Given the description of an element on the screen output the (x, y) to click on. 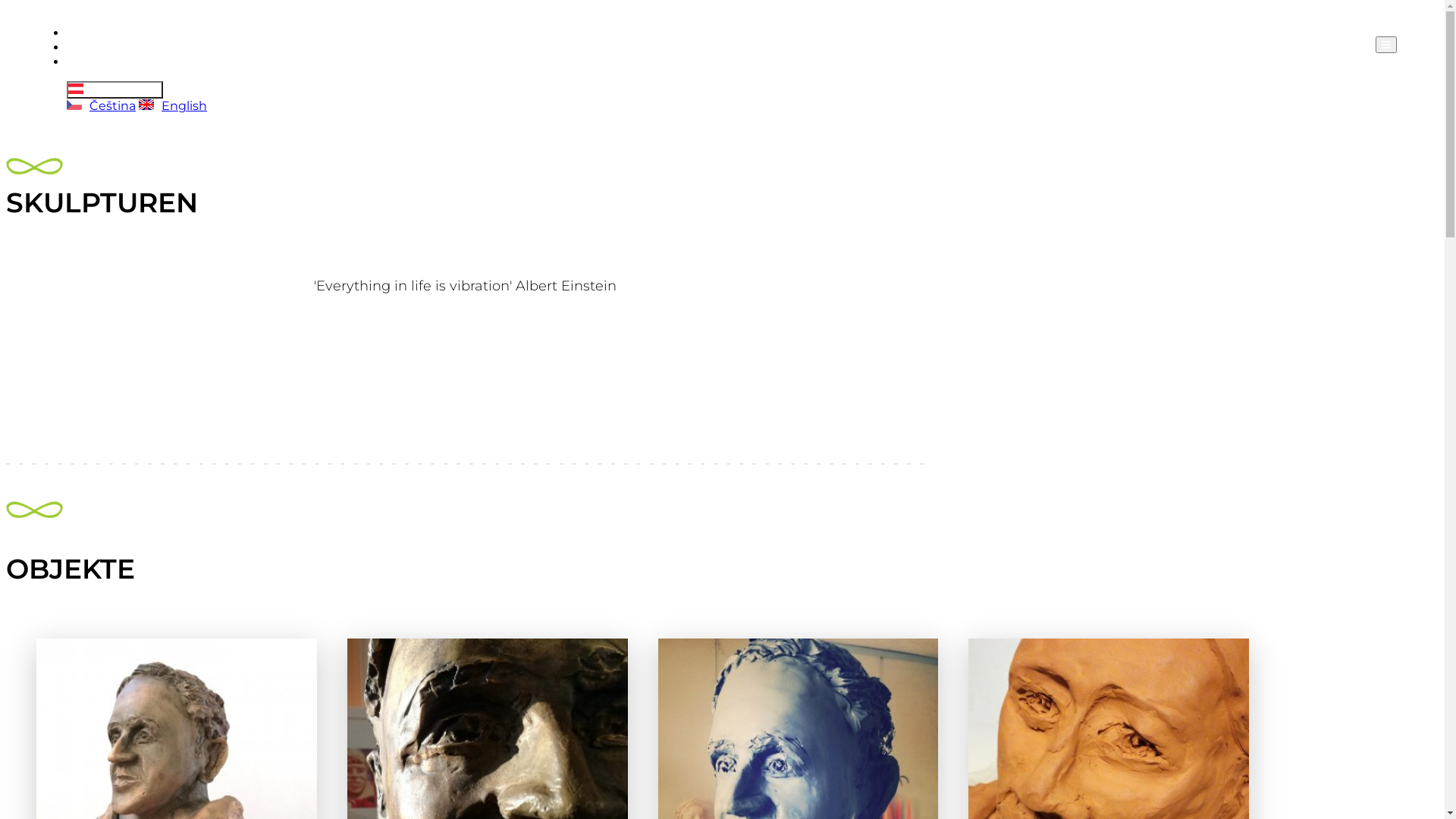
English Element type: text (172, 105)
Architektin Element type: text (100, 47)
Deutsch Element type: text (114, 89)
Designerin Element type: text (99, 61)
